Given the description of an element on the screen output the (x, y) to click on. 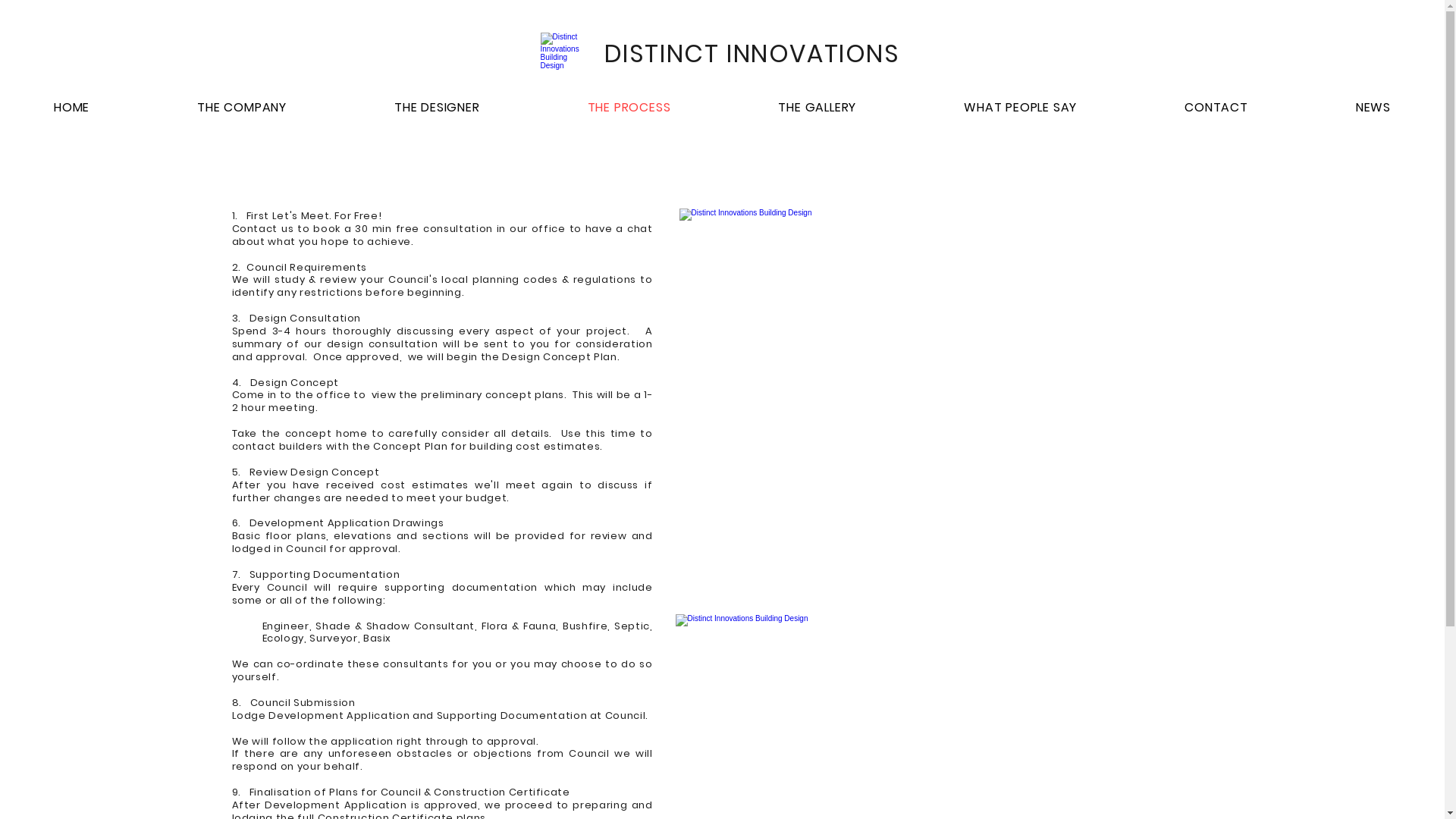
WHAT PEOPLE SAY Element type: text (1020, 106)
THE PROCESS Element type: text (628, 106)
THE GALLERY Element type: text (817, 106)
CONTACT Element type: text (1216, 106)
THE DESIGNER Element type: text (436, 106)
Distinct Innovations Building Design Element type: hover (931, 402)
THE COMPANY Element type: text (241, 106)
HOME Element type: text (71, 106)
NEWS Element type: text (1373, 106)
DISTINCT INNOVATIONS Element type: text (756, 53)
Distinct Innovations Building Design Element type: hover (561, 53)
